Given the description of an element on the screen output the (x, y) to click on. 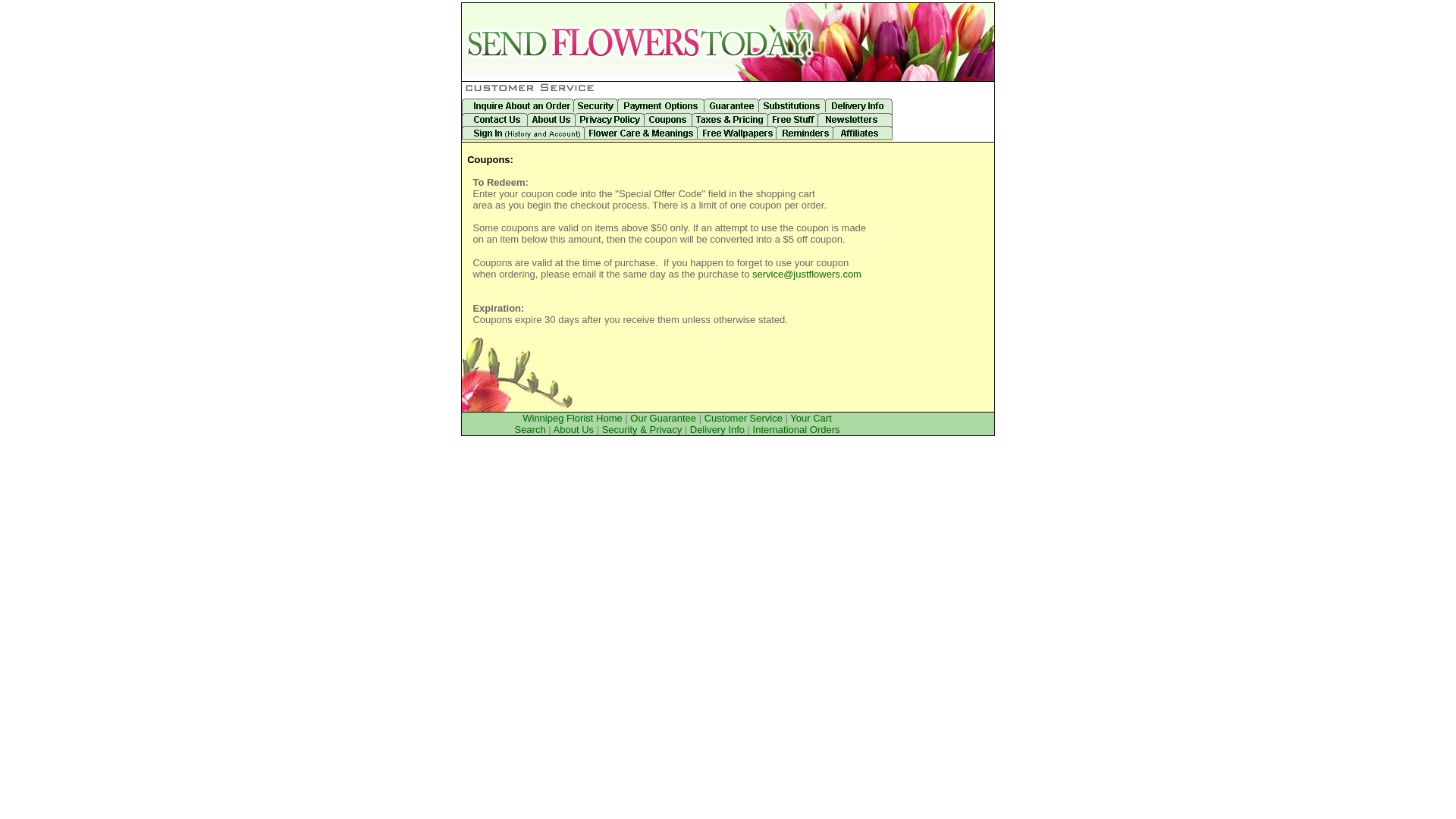
International Orders (796, 429)
Search (528, 429)
About Us (573, 429)
Customer Service (743, 418)
Winnipeg Florist Home (572, 418)
Your Cart (810, 418)
Our Guarantee (662, 418)
Delivery Info (717, 429)
